Given the description of an element on the screen output the (x, y) to click on. 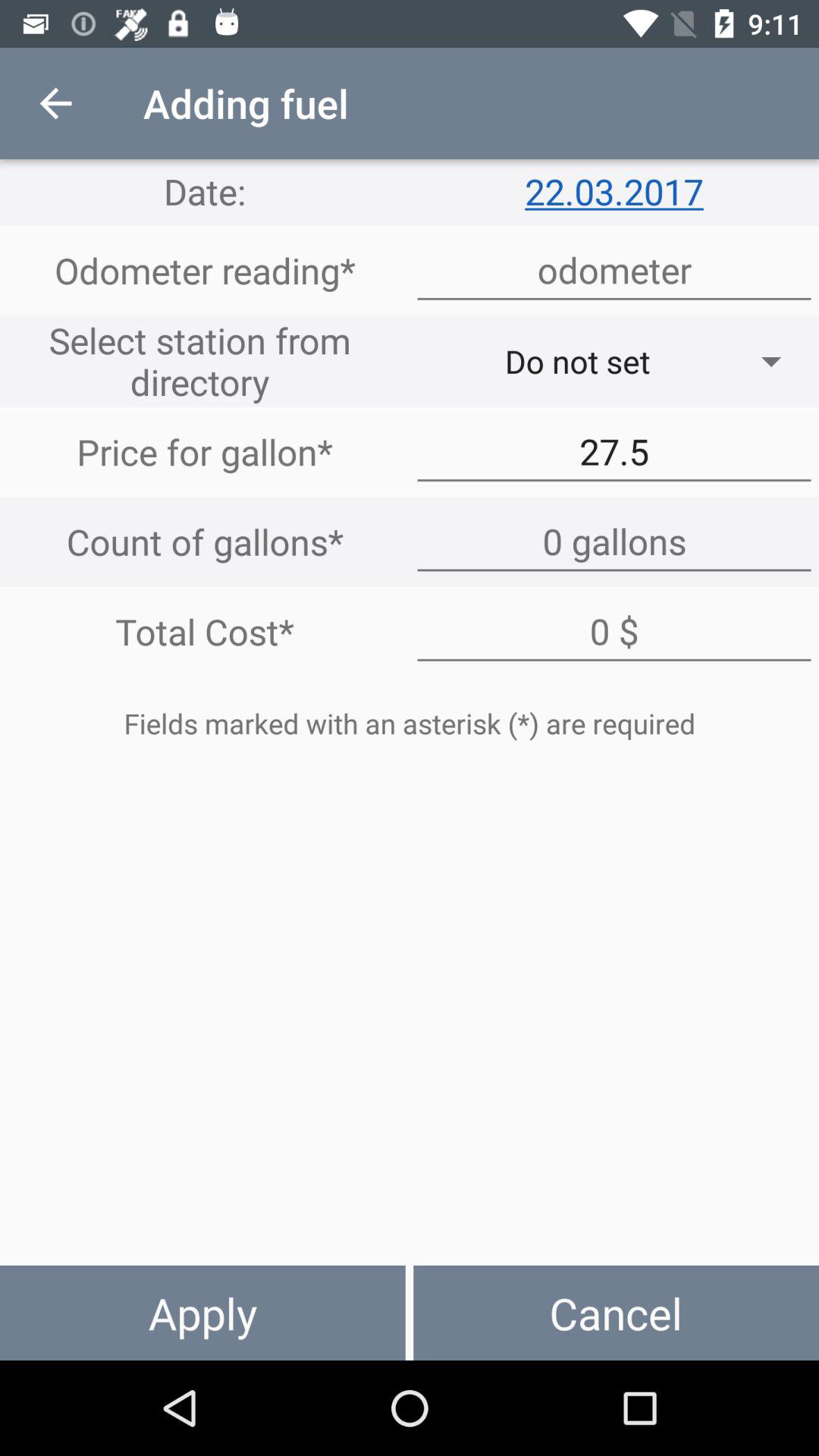
gallons count entry (614, 541)
